Given the description of an element on the screen output the (x, y) to click on. 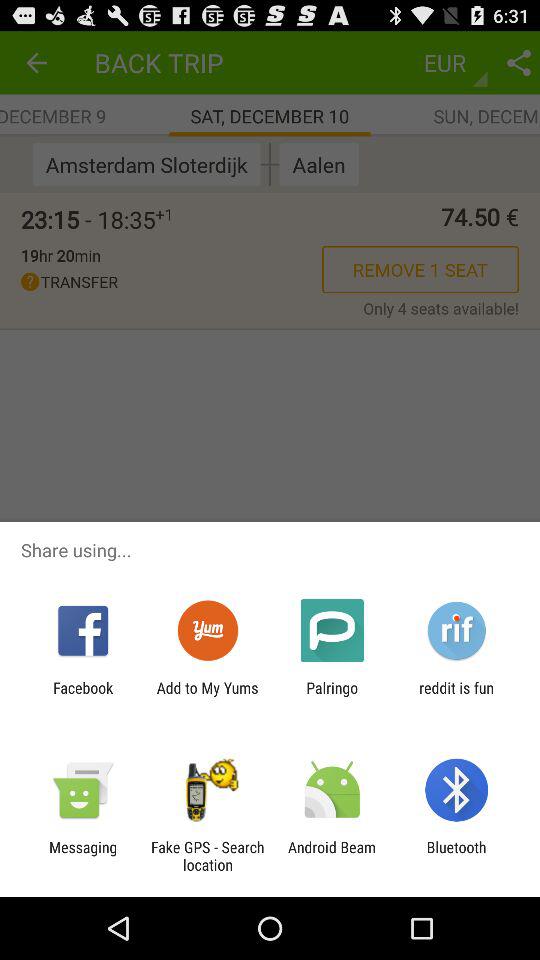
launch the app to the left of the bluetooth app (332, 856)
